Given the description of an element on the screen output the (x, y) to click on. 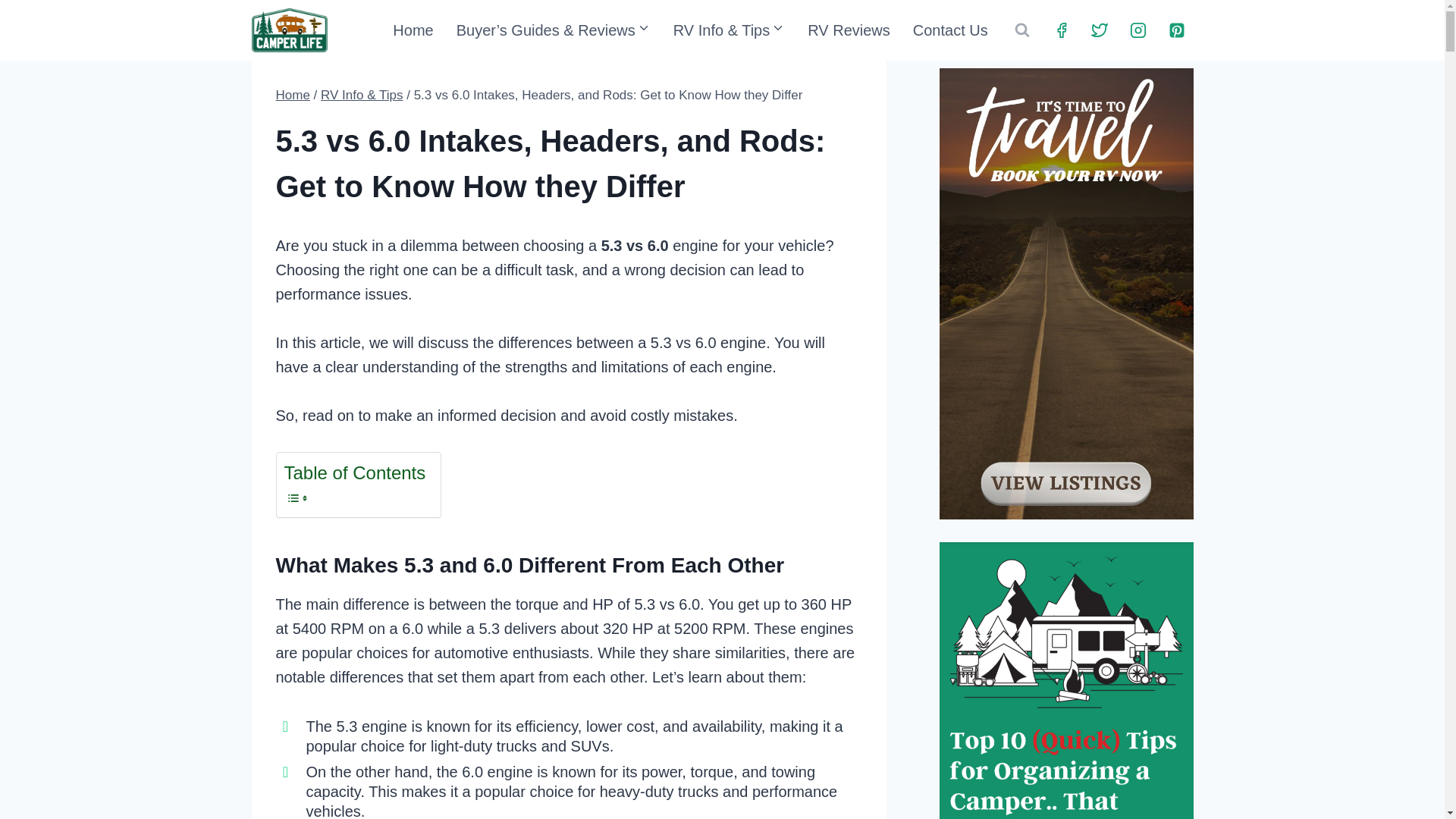
RV Reviews (848, 30)
Home (412, 30)
Home (293, 94)
Contact Us (949, 30)
